Given the description of an element on the screen output the (x, y) to click on. 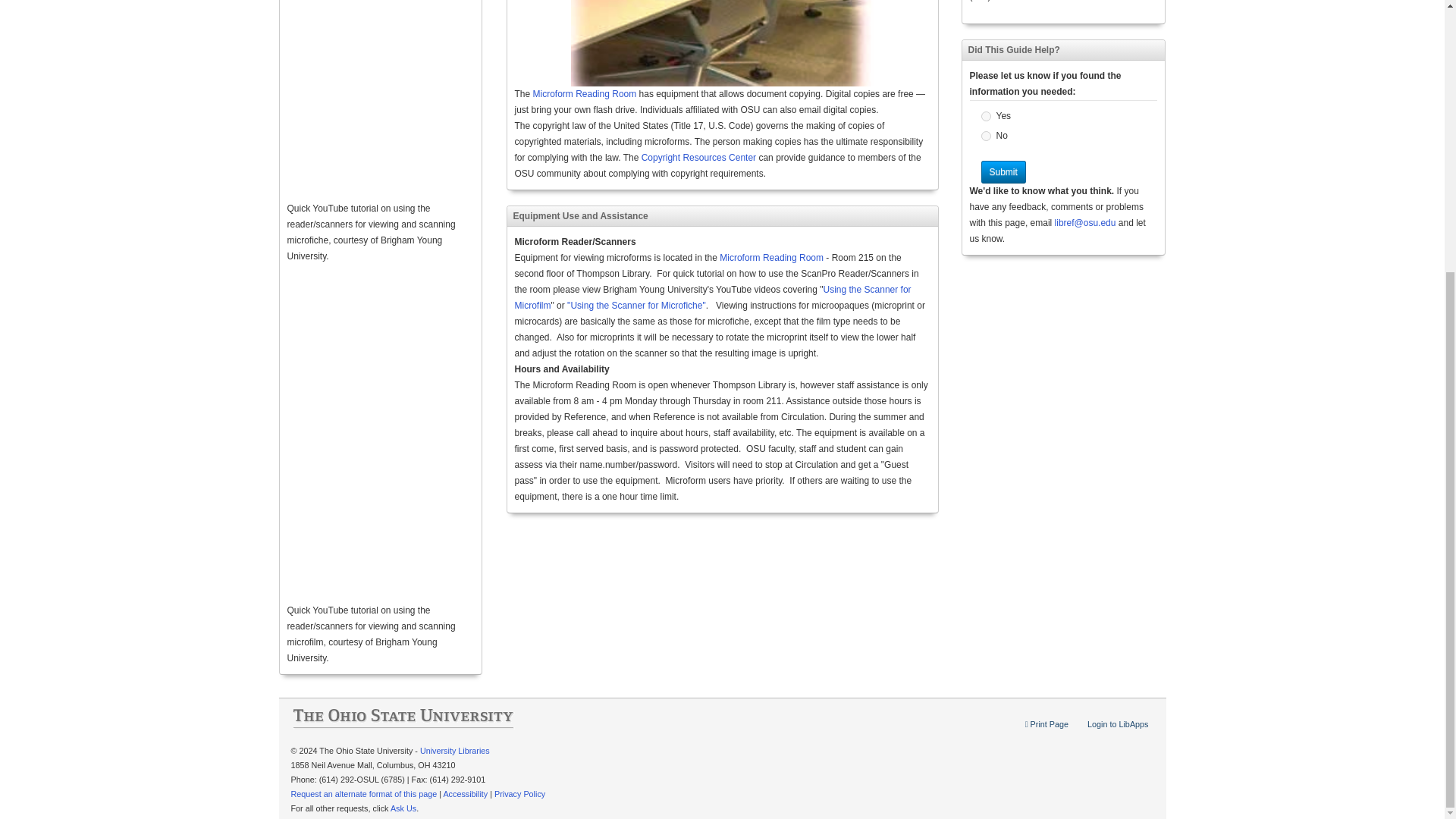
Accessibility (464, 793)
Using the Scanner for Microfiche (635, 305)
University Libraries (454, 750)
Submit (1003, 171)
Microform Reading Room (584, 93)
82497 (986, 135)
Using the Scanner for Microfilm (712, 297)
82496 (986, 116)
Copyright Resources Center (698, 157)
Request an alternate format of this page (364, 793)
